Given the description of an element on the screen output the (x, y) to click on. 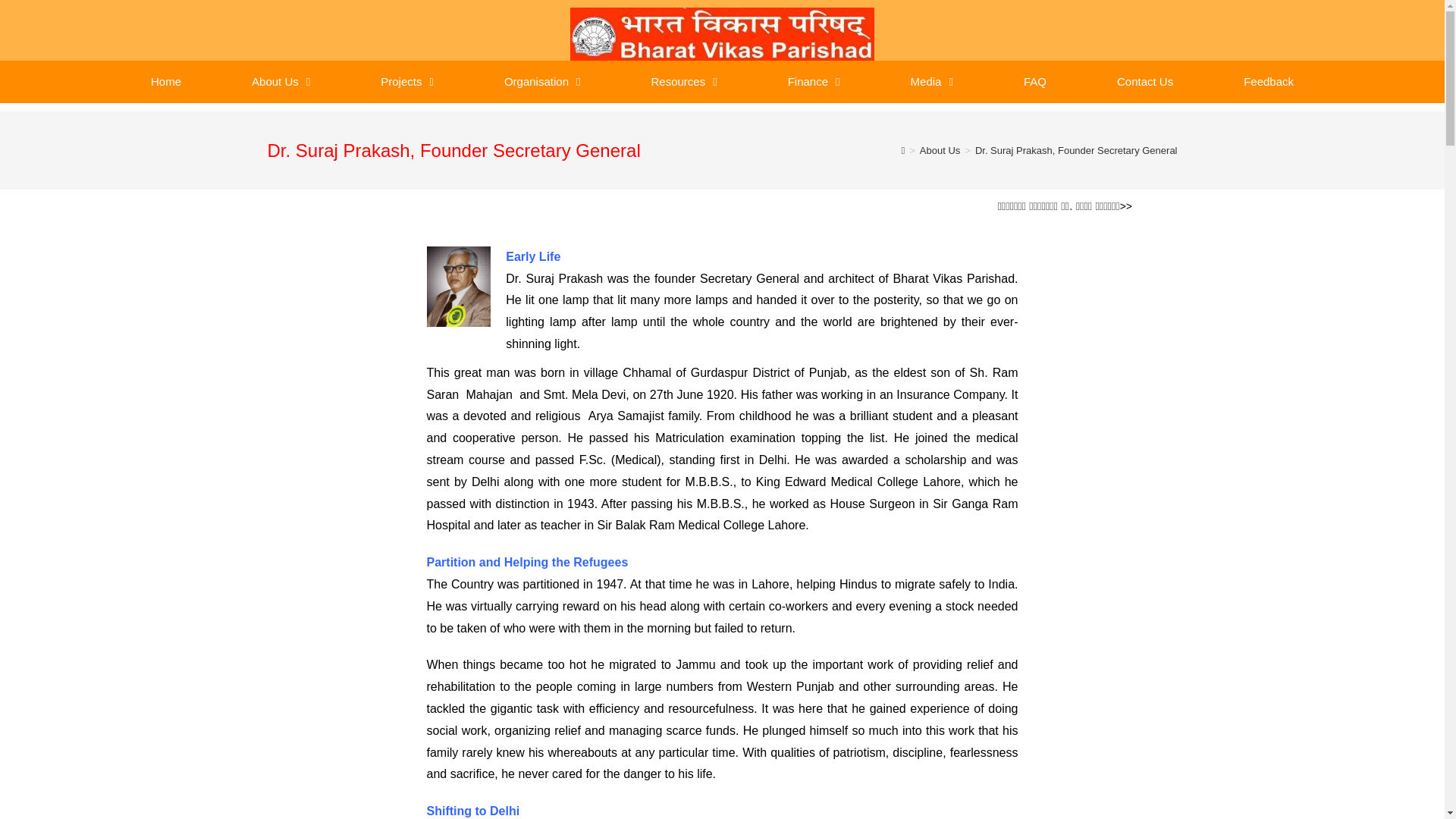
Home (165, 81)
About Us (281, 81)
Projects (407, 81)
